Given the description of an element on the screen output the (x, y) to click on. 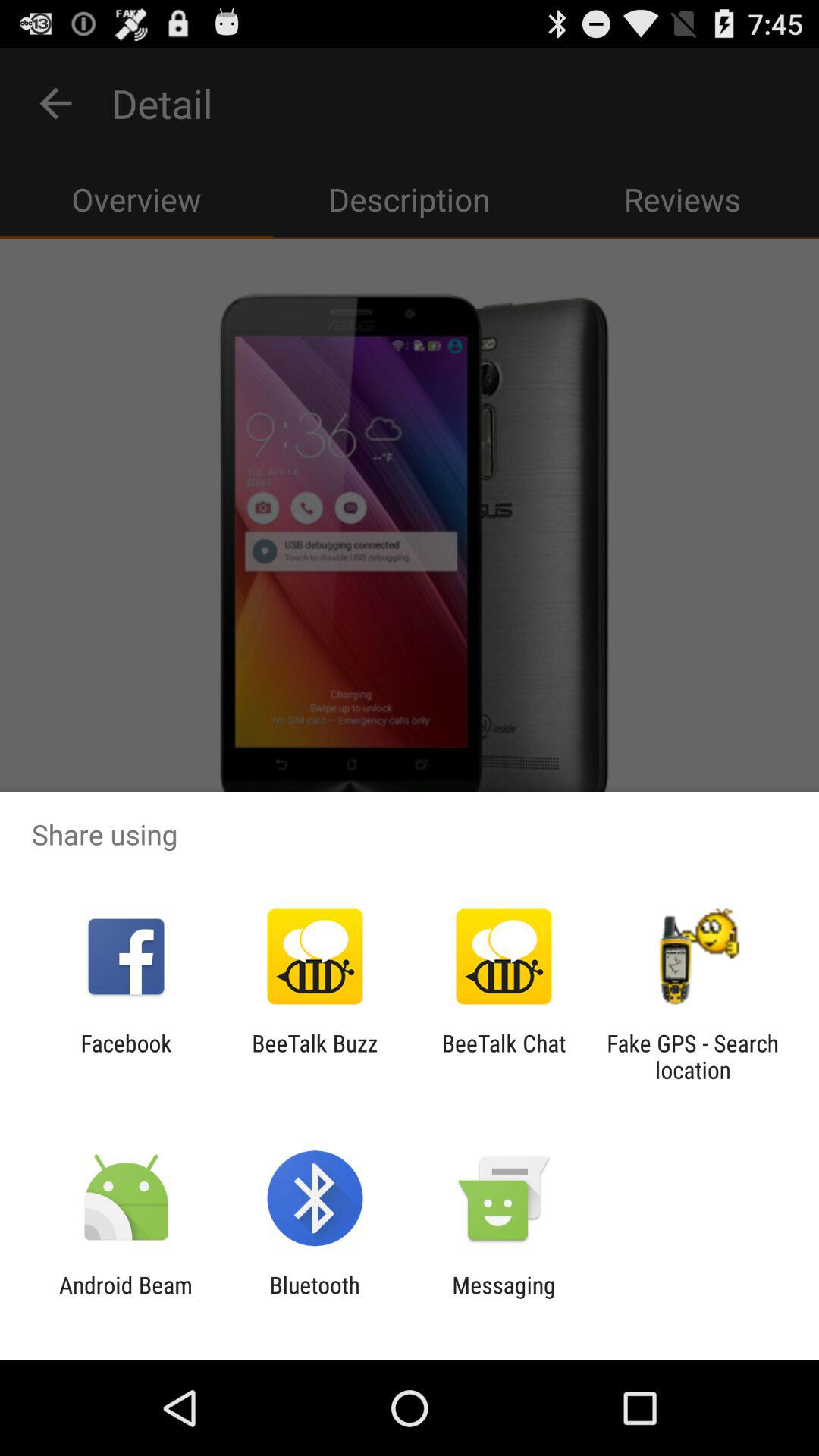
choose beetalk buzz item (314, 1056)
